Given the description of an element on the screen output the (x, y) to click on. 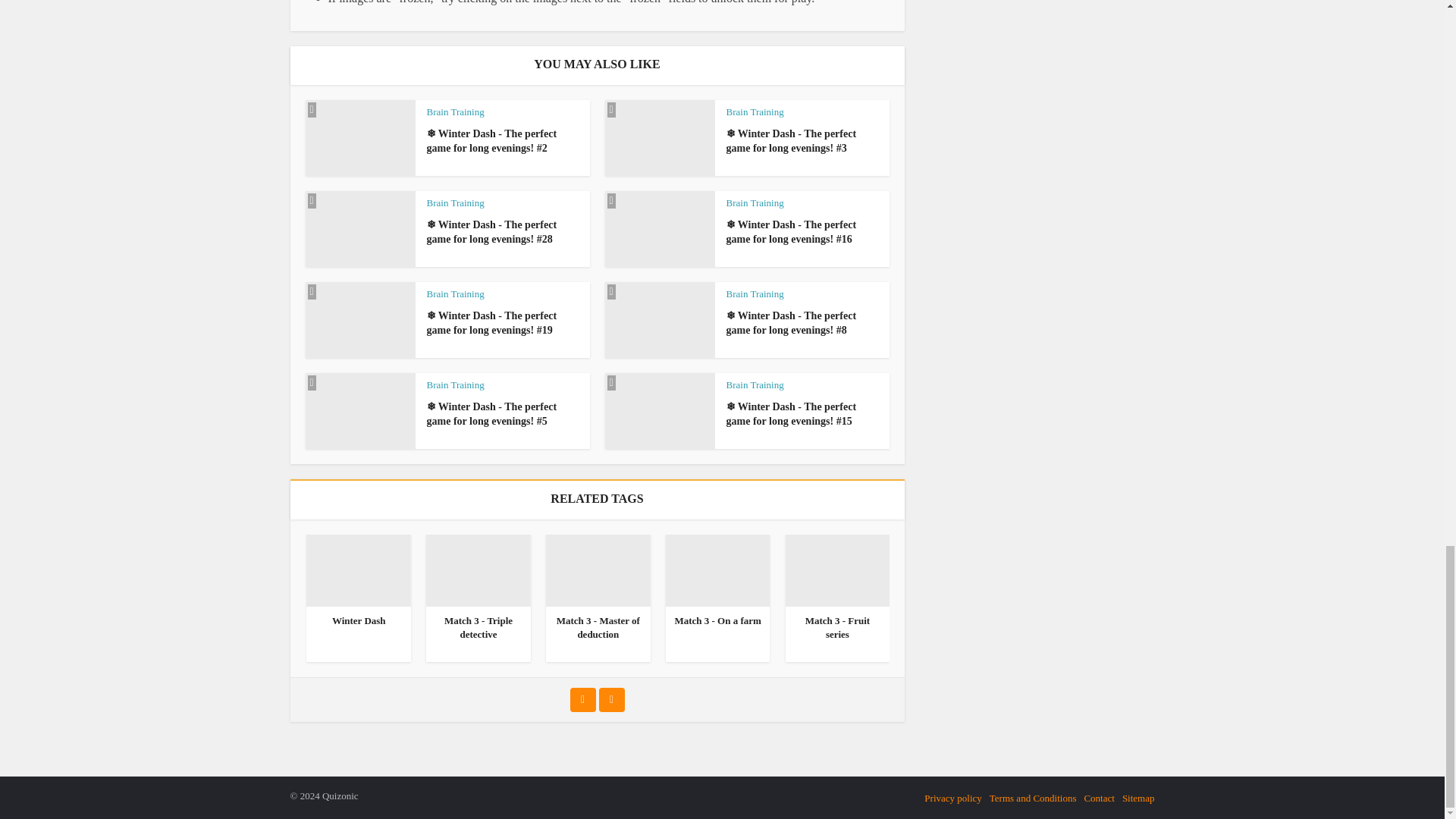
Brain Training (755, 111)
Brain Training (454, 111)
Brain Training (454, 202)
